Given the description of an element on the screen output the (x, y) to click on. 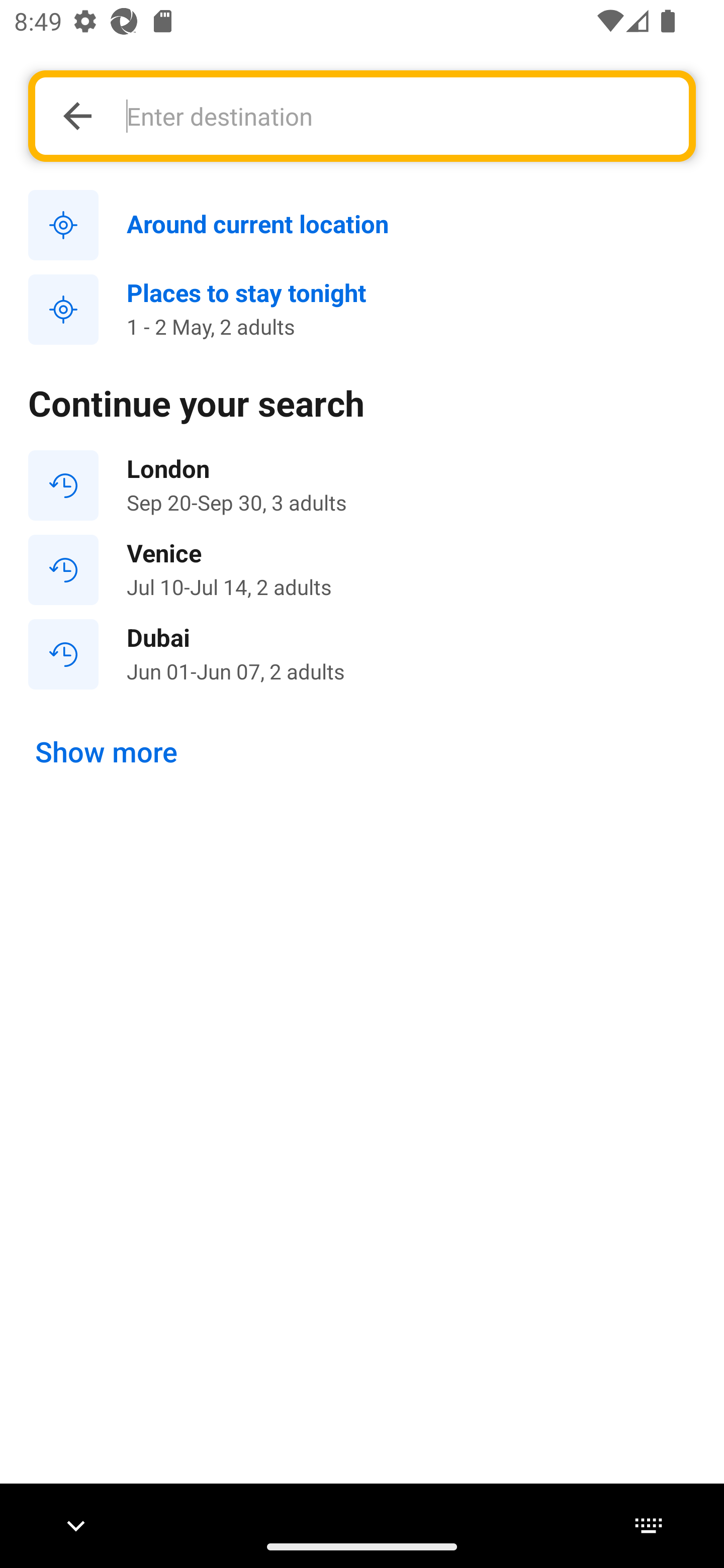
Enter destination (396, 115)
Around current location (362, 225)
Places to stay tonight 1 - 2 May, 2 adults (362, 309)
London Sep 20-Sep 30, 3 adults  (362, 485)
Venice Jul 10-Jul 14, 2 adults  (362, 569)
Dubai Jun 01-Jun 07, 2 adults  (362, 653)
Show more (106, 752)
